Given the description of an element on the screen output the (x, y) to click on. 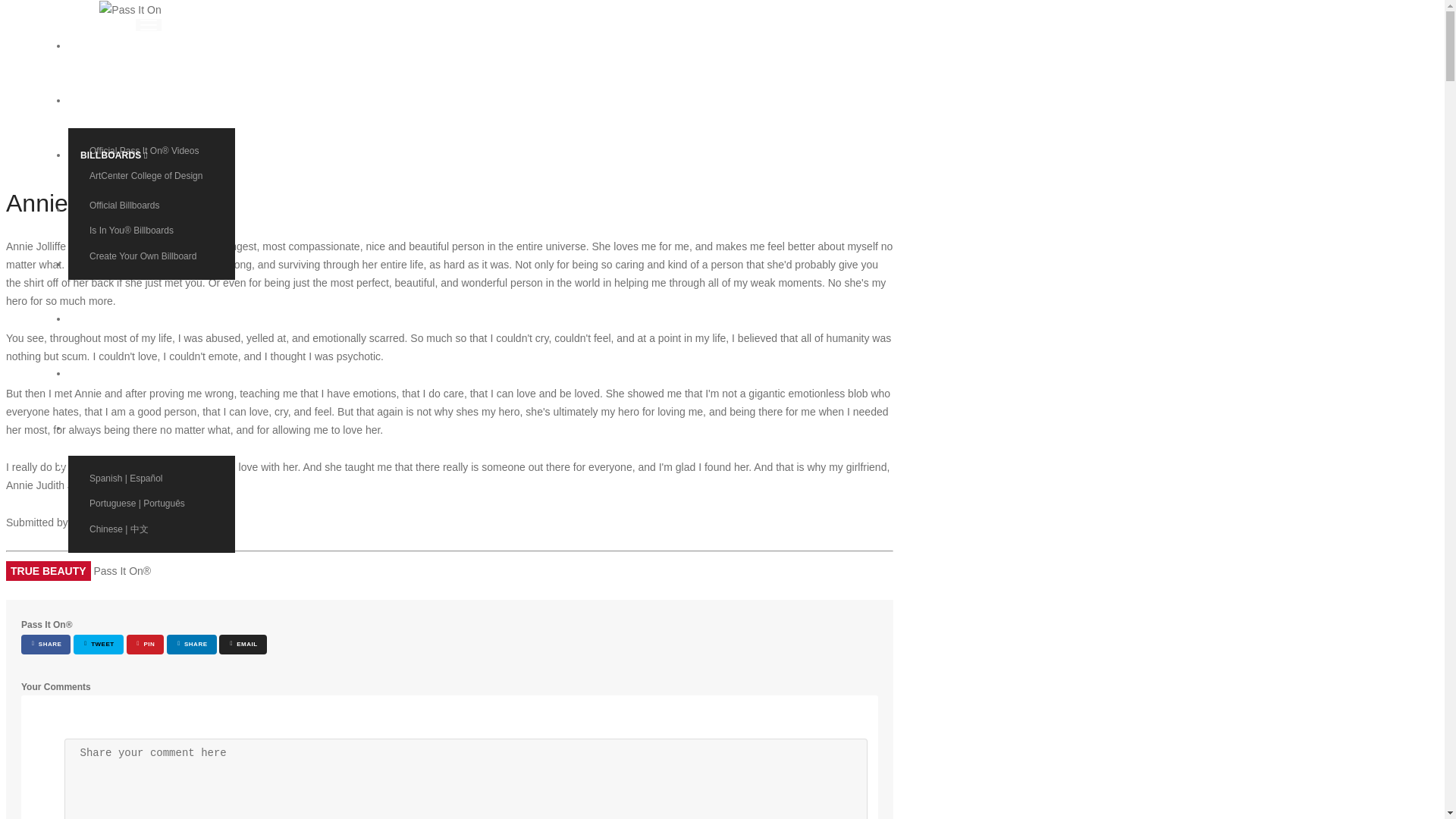
  SHARE (191, 644)
Create Your Own Billboard (151, 255)
BILLBOARDS (114, 154)
NEWSPAPERS (114, 209)
PODCAST (114, 264)
ArtCenter College of Design PSAs (151, 181)
  SHARE (45, 644)
  EMAIL (242, 644)
  PIN (145, 644)
VIDEOS (114, 100)
